Given the description of an element on the screen output the (x, y) to click on. 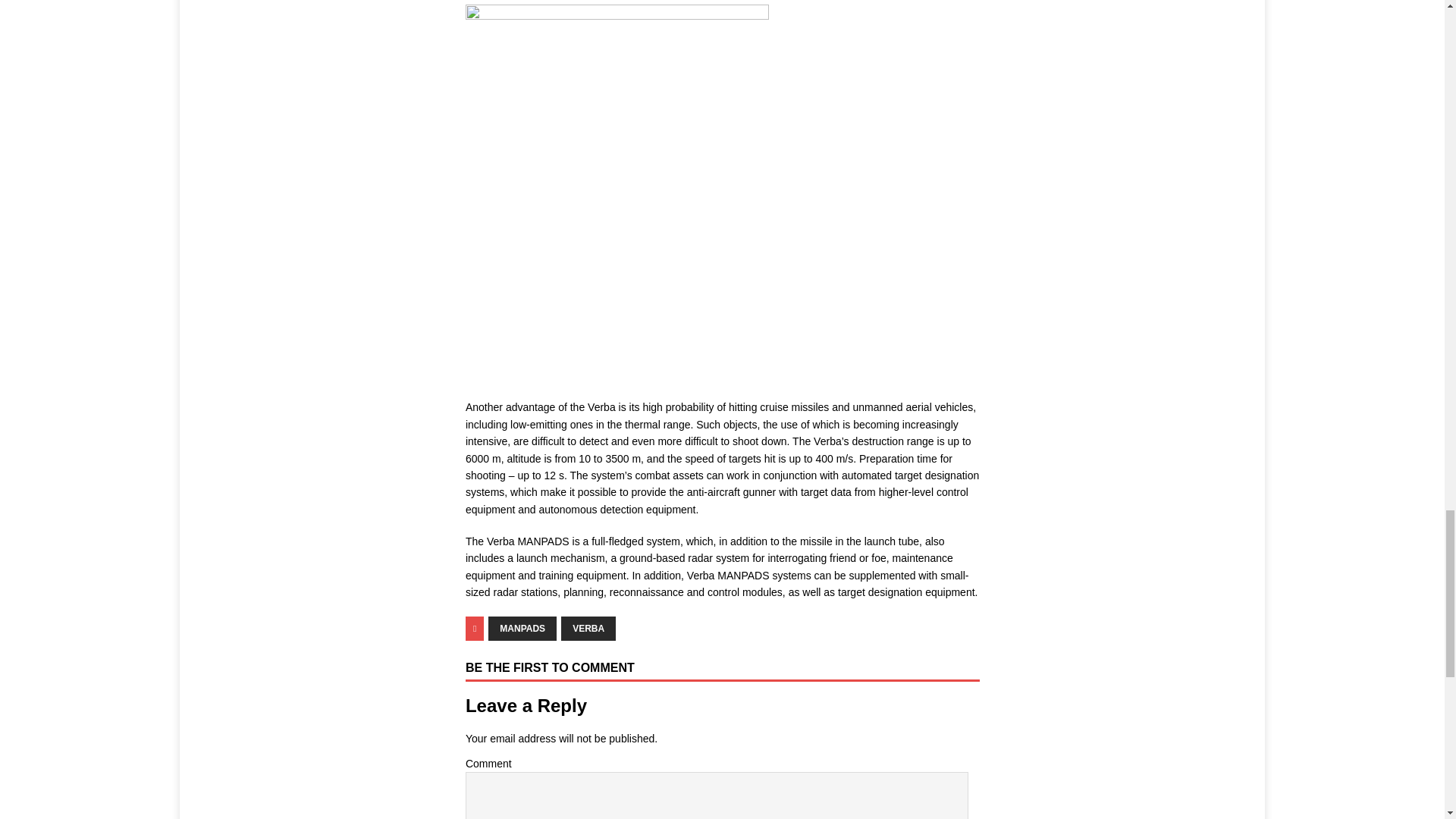
MANPADS (521, 628)
VERBA (587, 628)
